Given the description of an element on the screen output the (x, y) to click on. 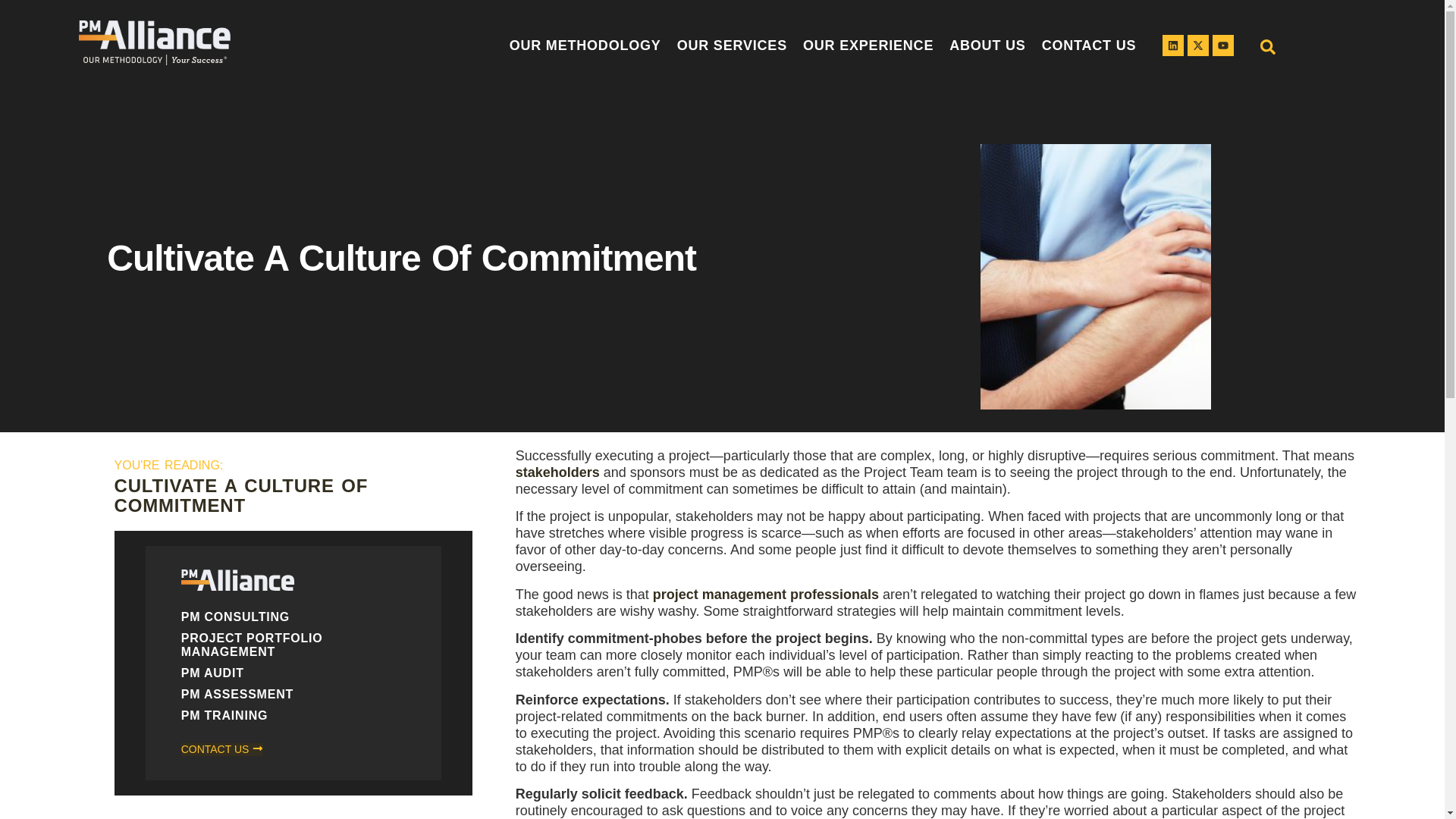
OUR METHODOLOGY (587, 45)
Project Management Methodology (587, 45)
OUR SERVICES (735, 45)
Project Management Services (735, 45)
